Given the description of an element on the screen output the (x, y) to click on. 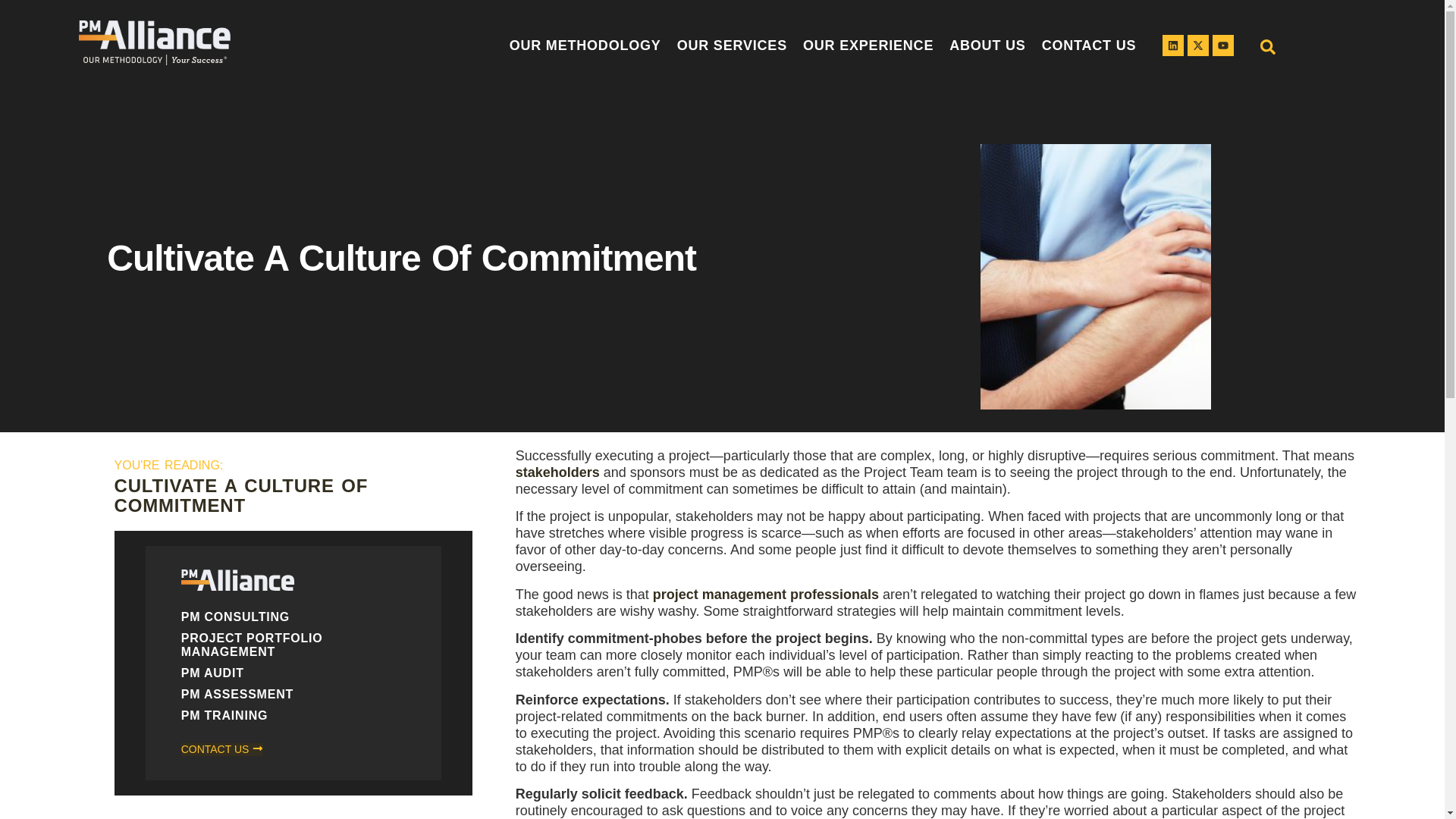
OUR METHODOLOGY (587, 45)
Project Management Methodology (587, 45)
OUR SERVICES (735, 45)
Project Management Services (735, 45)
